Given the description of an element on the screen output the (x, y) to click on. 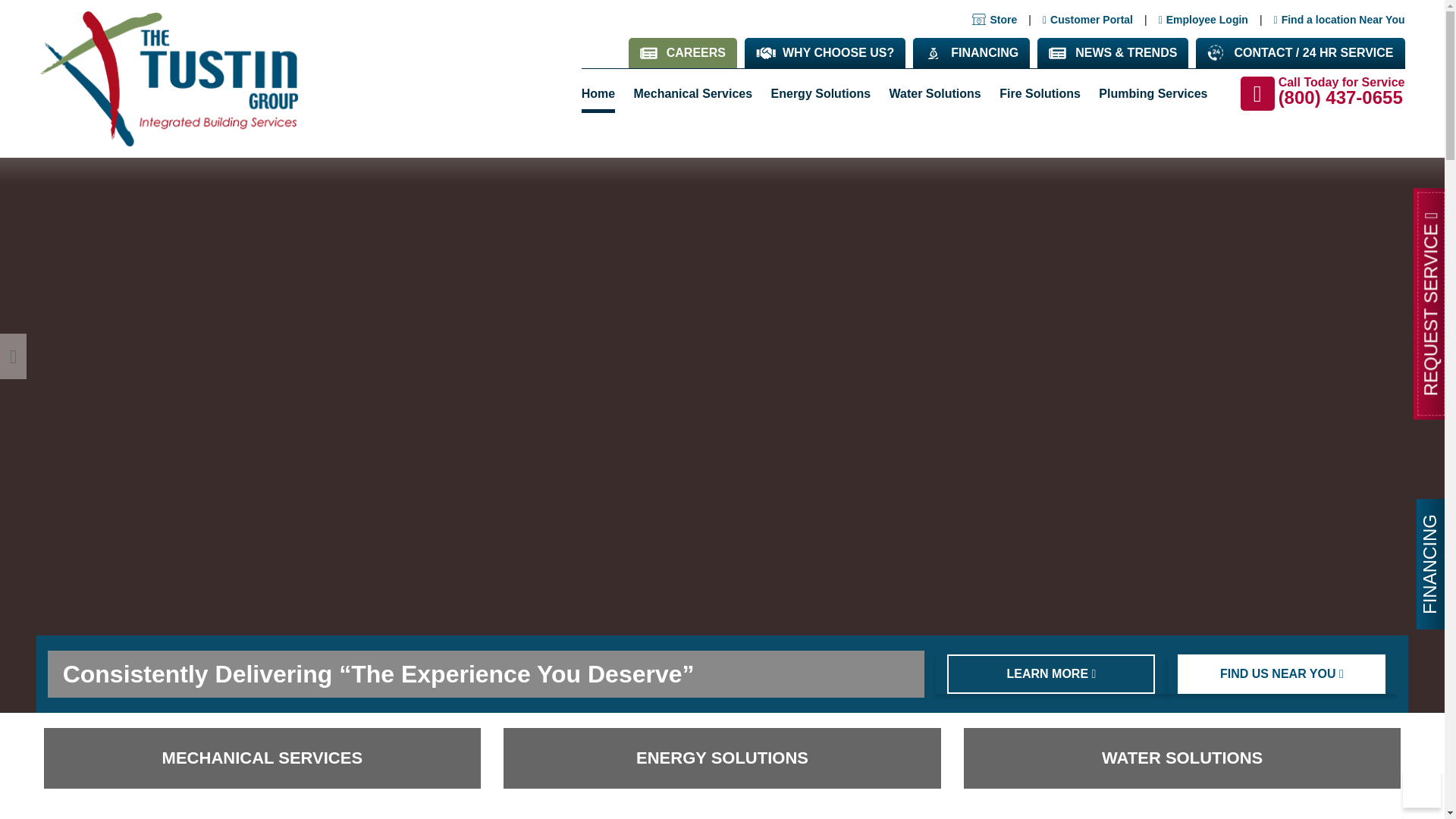
Employee Login (1202, 19)
Mechanical Services (693, 92)
Water Solutions (935, 92)
WHY CHOOSE US? (824, 52)
FINANCING (970, 52)
Customer Portal (1087, 19)
Home (601, 94)
Energy Solutions (820, 92)
The Tustin Group (168, 78)
Find a location Near You (1339, 19)
Store (994, 19)
CAREERS (682, 52)
